Given the description of an element on the screen output the (x, y) to click on. 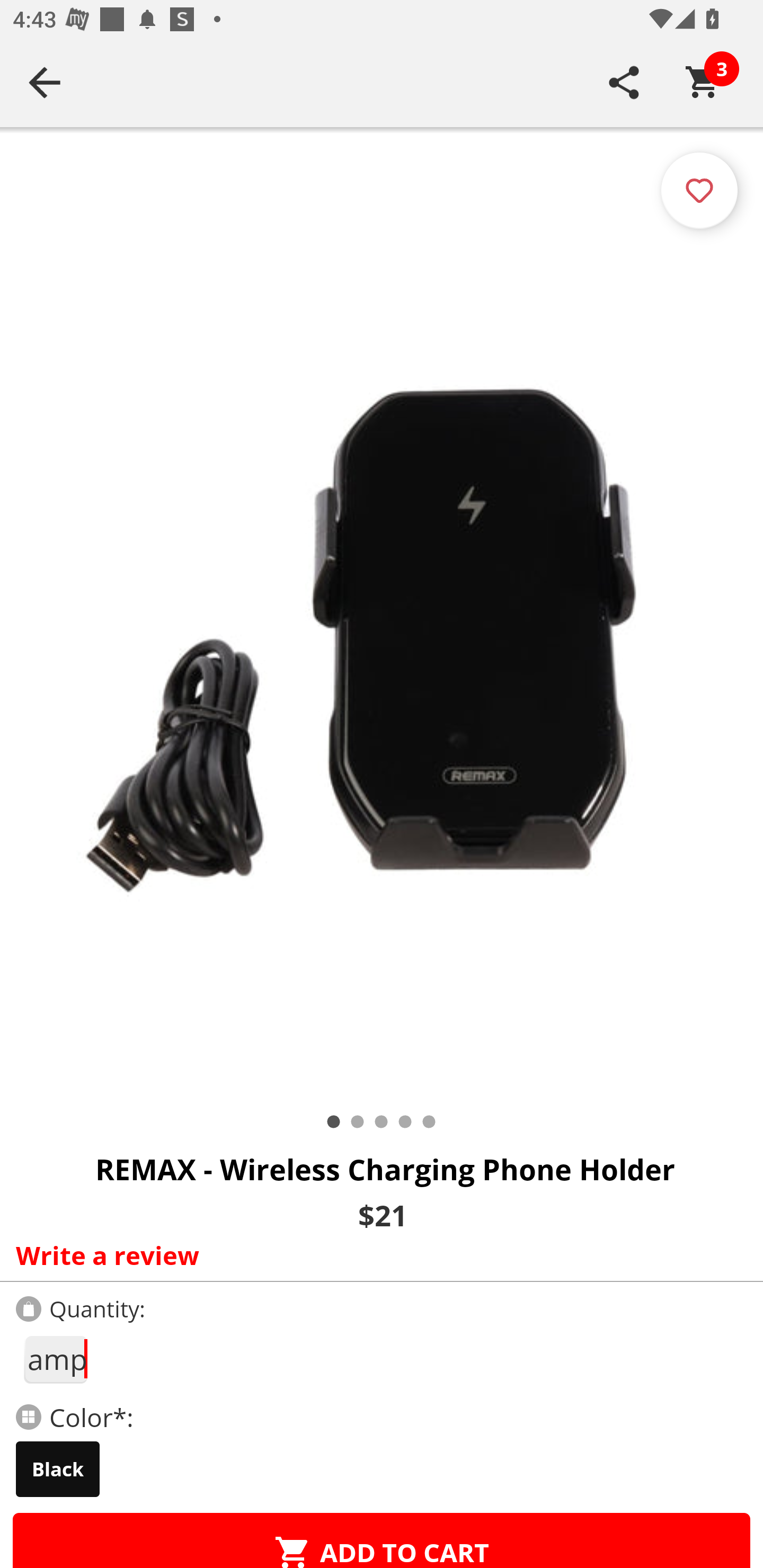
Navigate up (44, 82)
SHARE (623, 82)
Cart (703, 81)
Write a review (377, 1255)
1lamp (55, 1358)
Black (57, 1468)
ADD TO CART (381, 1540)
